Given the description of an element on the screen output the (x, y) to click on. 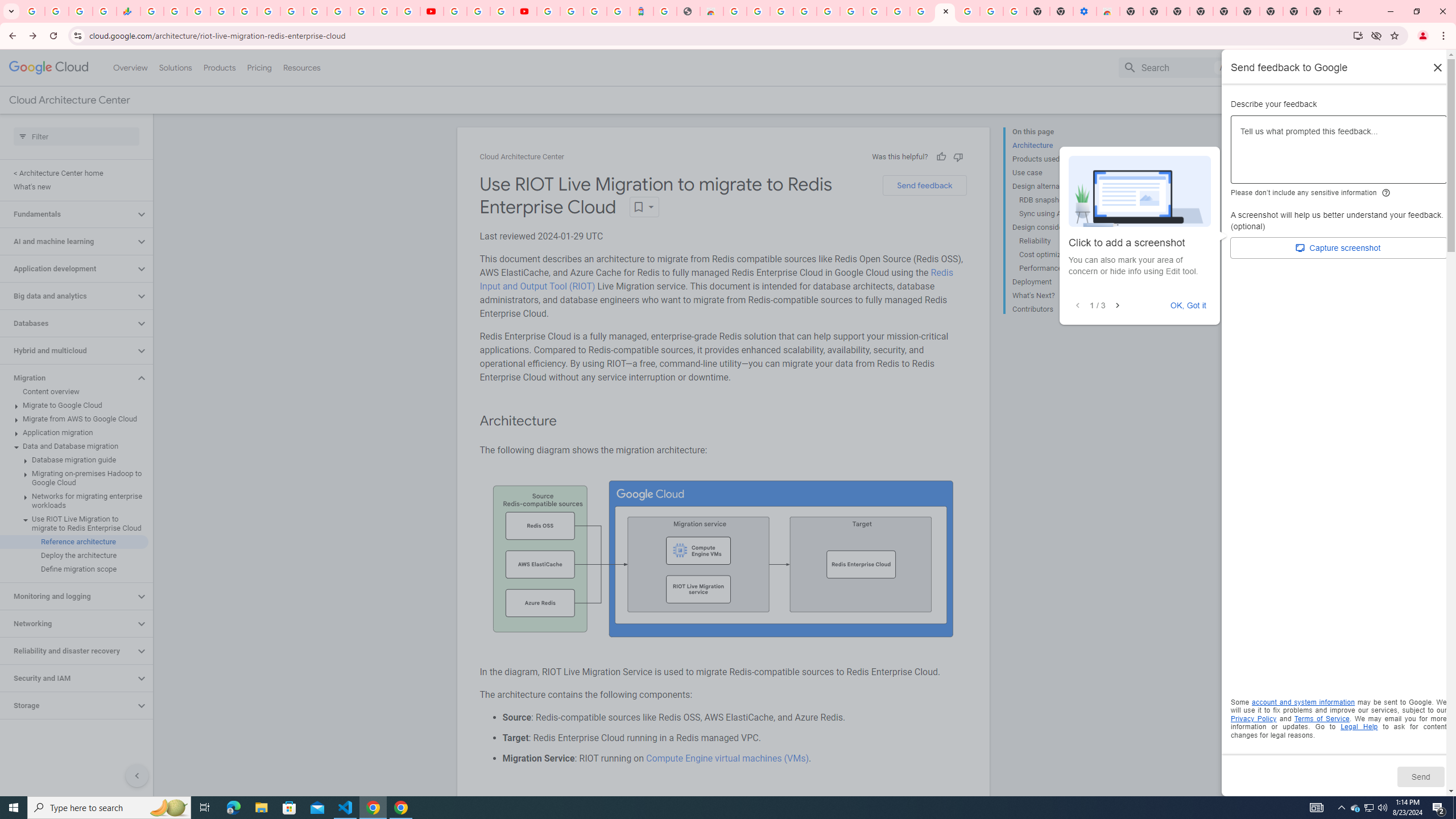
Send feedback (924, 185)
Previous (1078, 305)
Architecture (1058, 145)
Docs, selected (1264, 67)
Design considerations (1058, 227)
Migration (67, 377)
Android TV Policies and Guidelines - Transparency Center (291, 11)
Start free (1400, 100)
Opens in a new tab. Privacy Policy (1253, 718)
Cost optimization (1062, 254)
Create your Google Account (757, 11)
